Given the description of an element on the screen output the (x, y) to click on. 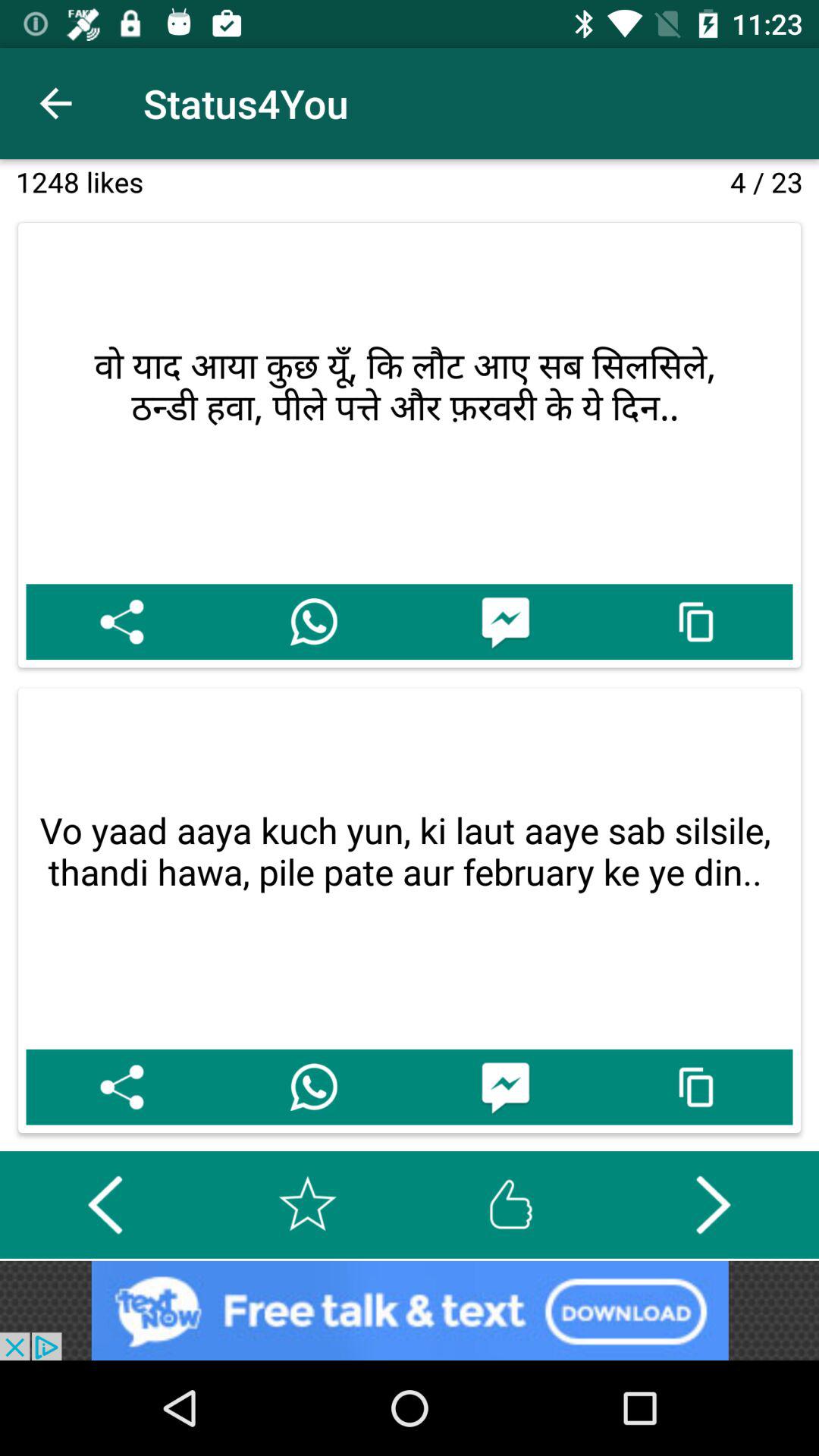
tap the icon above 1248 likes item (55, 103)
